Given the description of an element on the screen output the (x, y) to click on. 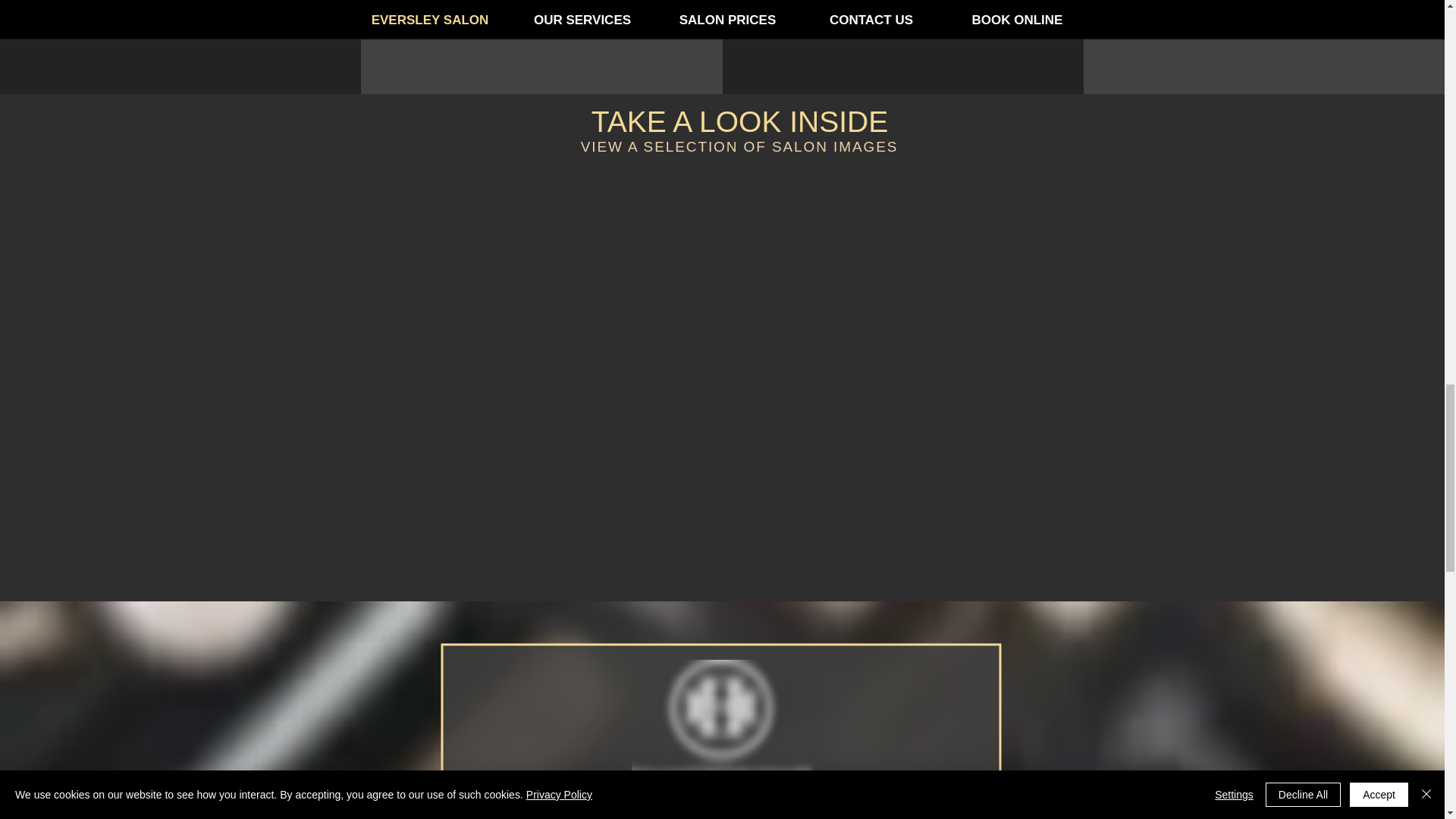
logo.png (721, 723)
